Given the description of an element on the screen output the (x, y) to click on. 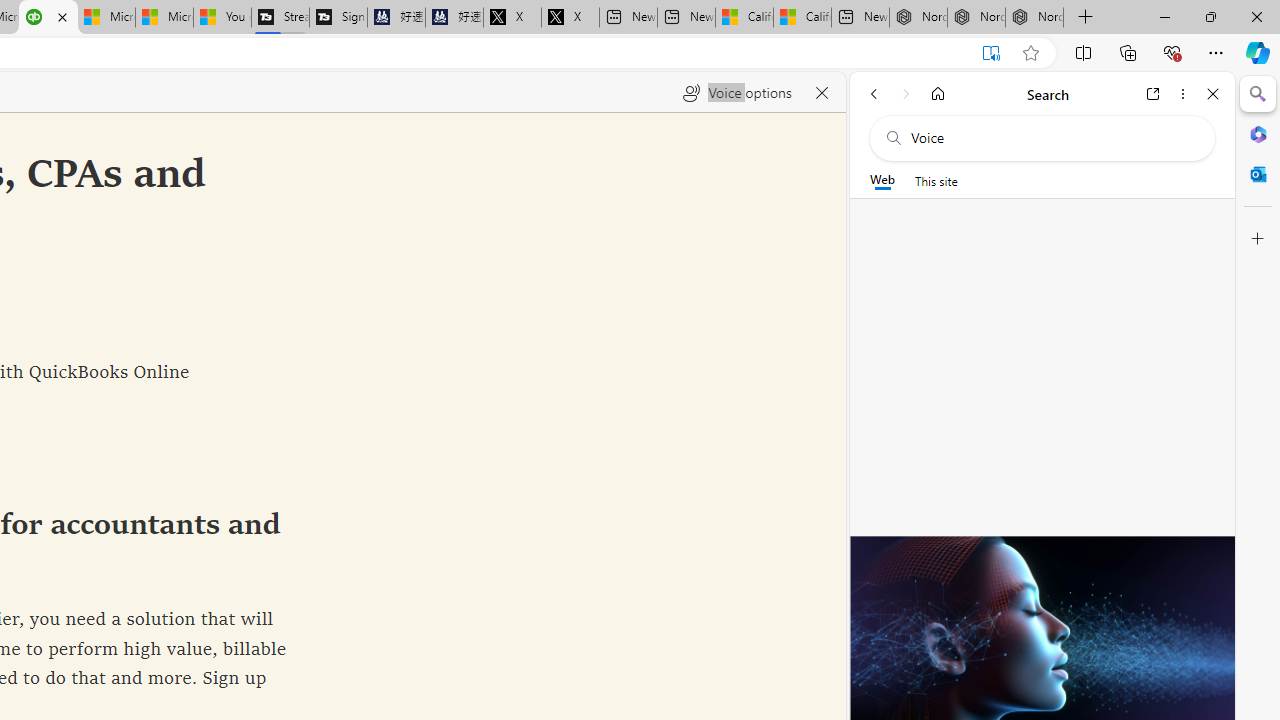
Voice options (737, 92)
Accounting Software for Accountants, CPAs and Bookkeepers (48, 17)
Search the web (1051, 137)
